Given the description of an element on the screen output the (x, y) to click on. 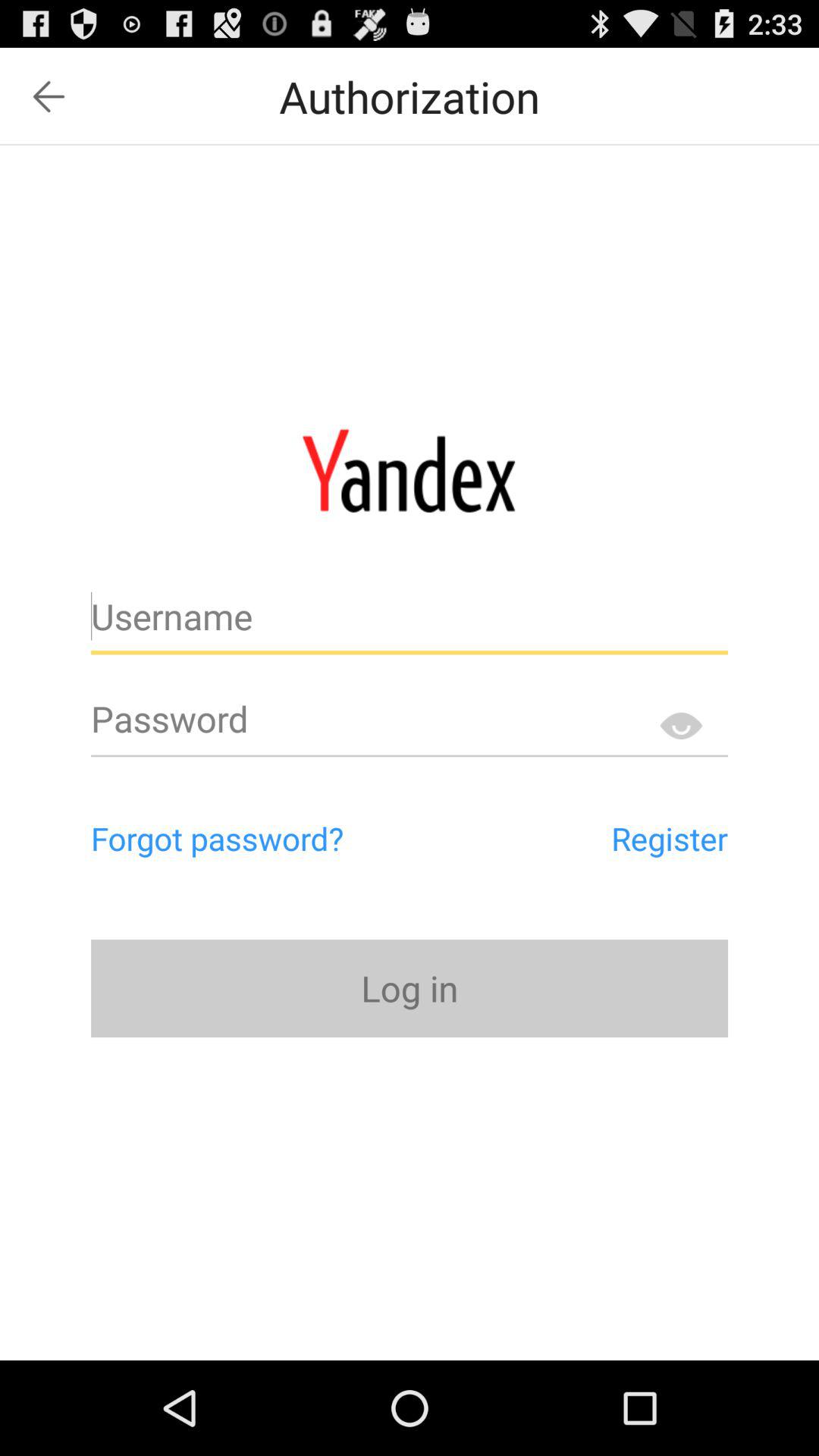
go back (48, 96)
